Given the description of an element on the screen output the (x, y) to click on. 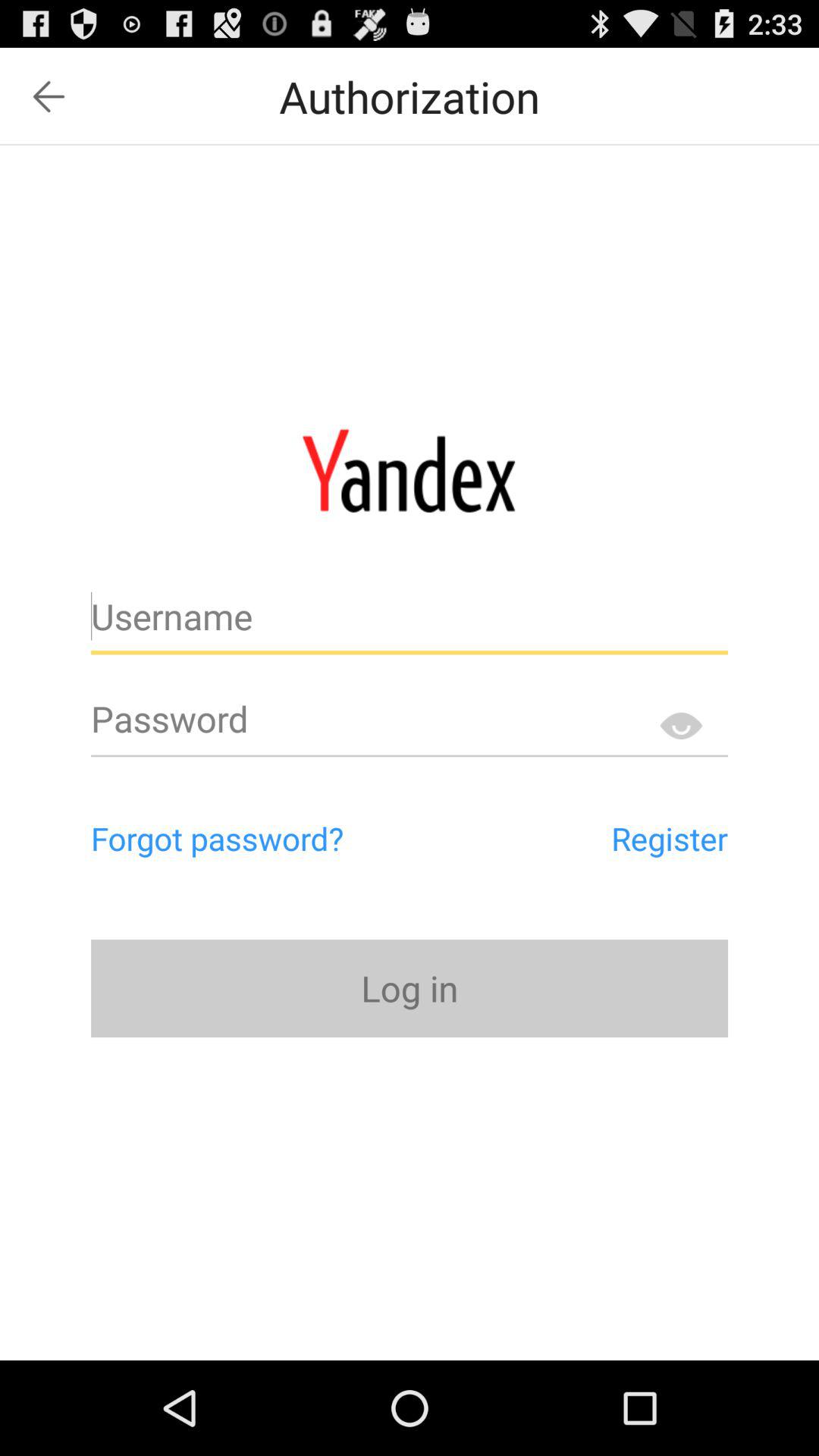
go back (48, 96)
